Given the description of an element on the screen output the (x, y) to click on. 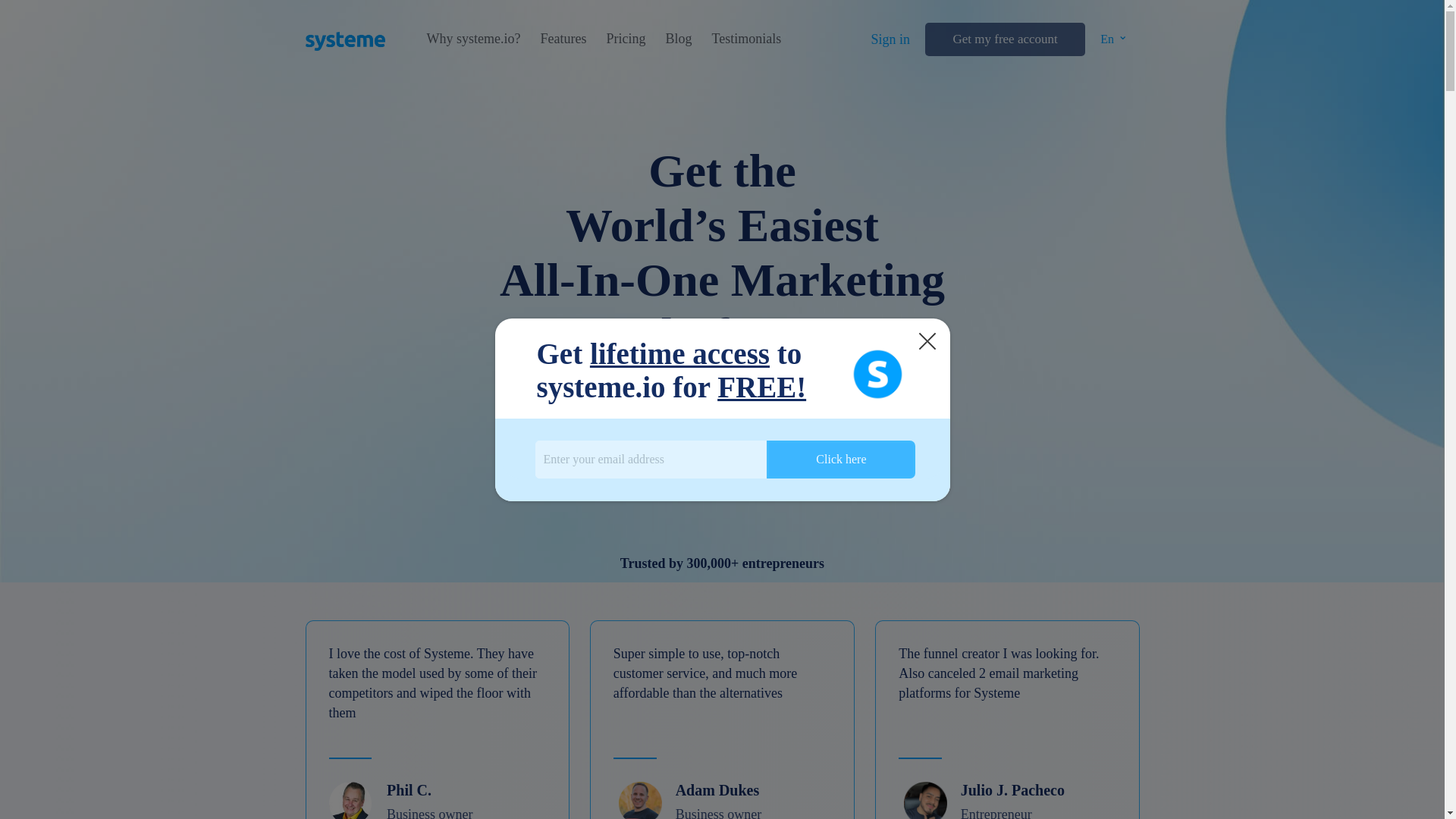
Get my free account (1004, 39)
Sign in (890, 39)
Why systeme.io? (472, 38)
Blog (678, 38)
Testimonials (745, 38)
Pricing (625, 38)
Features (563, 38)
